Given the description of an element on the screen output the (x, y) to click on. 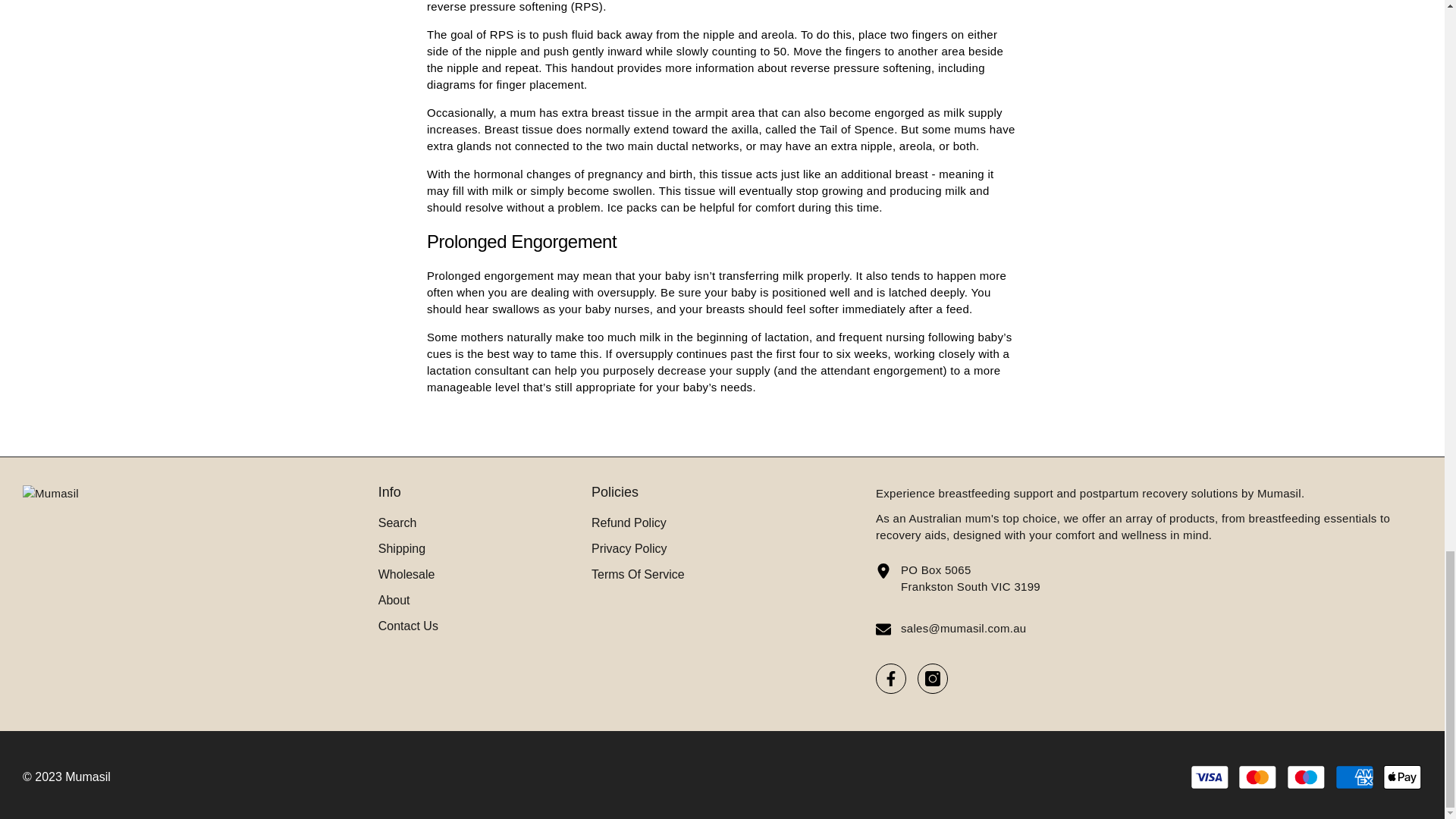
Privacy Policy (628, 548)
Wholesale (406, 574)
Facebook (890, 678)
Search (397, 523)
Instagram (932, 678)
Shipping (401, 548)
Refund Policy (628, 523)
Contact Us (408, 626)
Terms Of Service (637, 574)
About (394, 600)
